Given the description of an element on the screen output the (x, y) to click on. 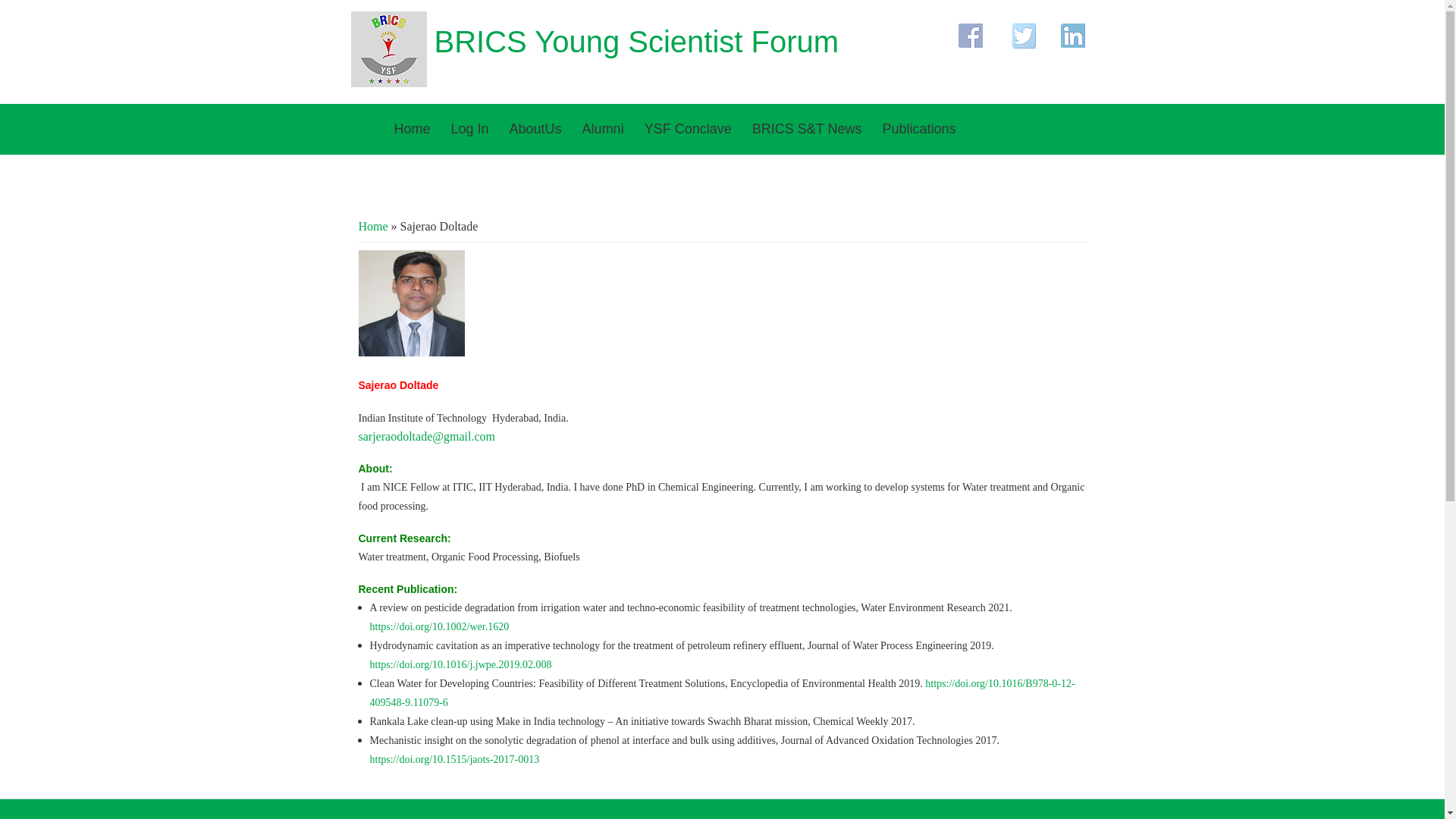
Home (388, 82)
AboutUs (535, 128)
BRICS Young Scientist Forum (635, 41)
Alumni (603, 128)
Home (372, 226)
Log In (469, 128)
YSF Conclave (687, 128)
Publications (917, 128)
Home (412, 128)
Home (635, 41)
